Given the description of an element on the screen output the (x, y) to click on. 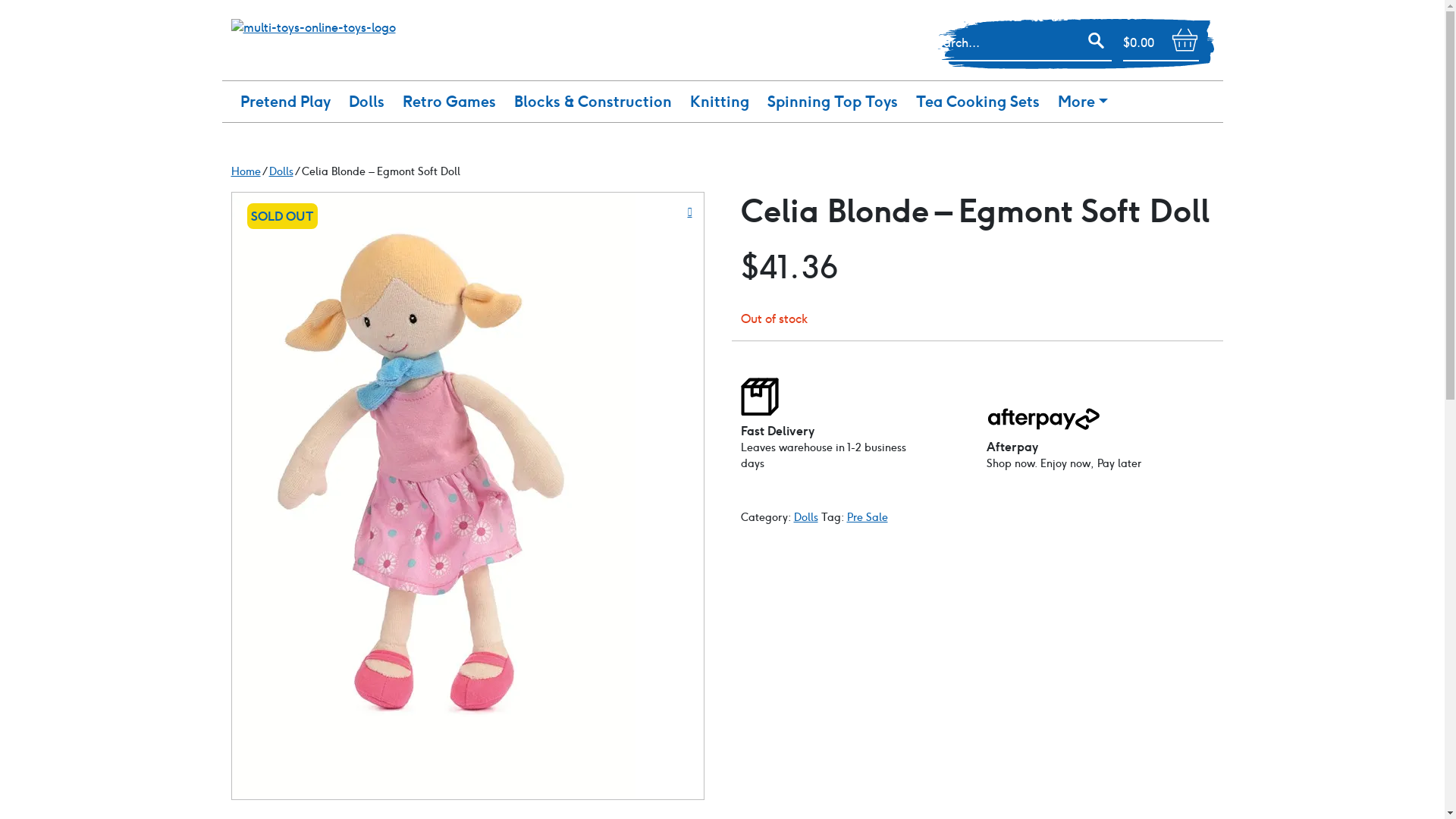
Pretend Play Element type: text (284, 101)
Dolls Element type: text (366, 101)
More Element type: text (1082, 101)
Home Element type: text (245, 171)
Pre Sale Element type: text (866, 517)
$0.00 Element type: text (1160, 42)
Tea Cooking Sets Element type: text (977, 101)
Spinning Top Toys Element type: text (832, 101)
Knitting Element type: text (719, 101)
Retro Games Element type: text (448, 101)
Dolls Element type: text (805, 517)
Dolls Element type: text (280, 171)
ESDB Element type: hover (433, 495)
Blocks & Construction Element type: text (592, 101)
